Given the description of an element on the screen output the (x, y) to click on. 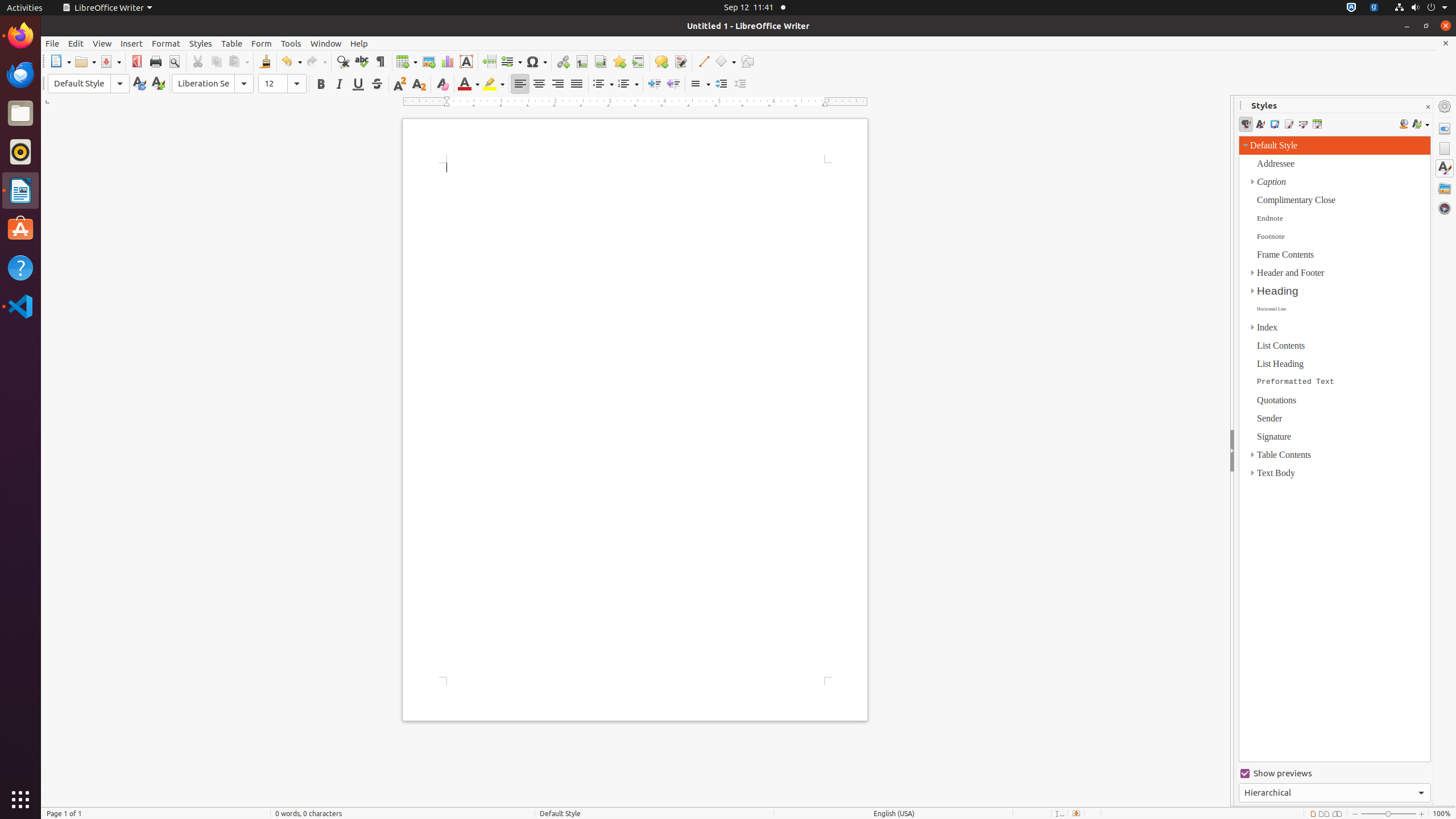
Navigator Element type: radio-button (1444, 208)
LibreOffice Writer Element type: menu (106, 7)
Text Box Element type: push-button (465, 61)
Center Element type: toggle-button (538, 83)
Underline Element type: push-button (357, 83)
